Given the description of an element on the screen output the (x, y) to click on. 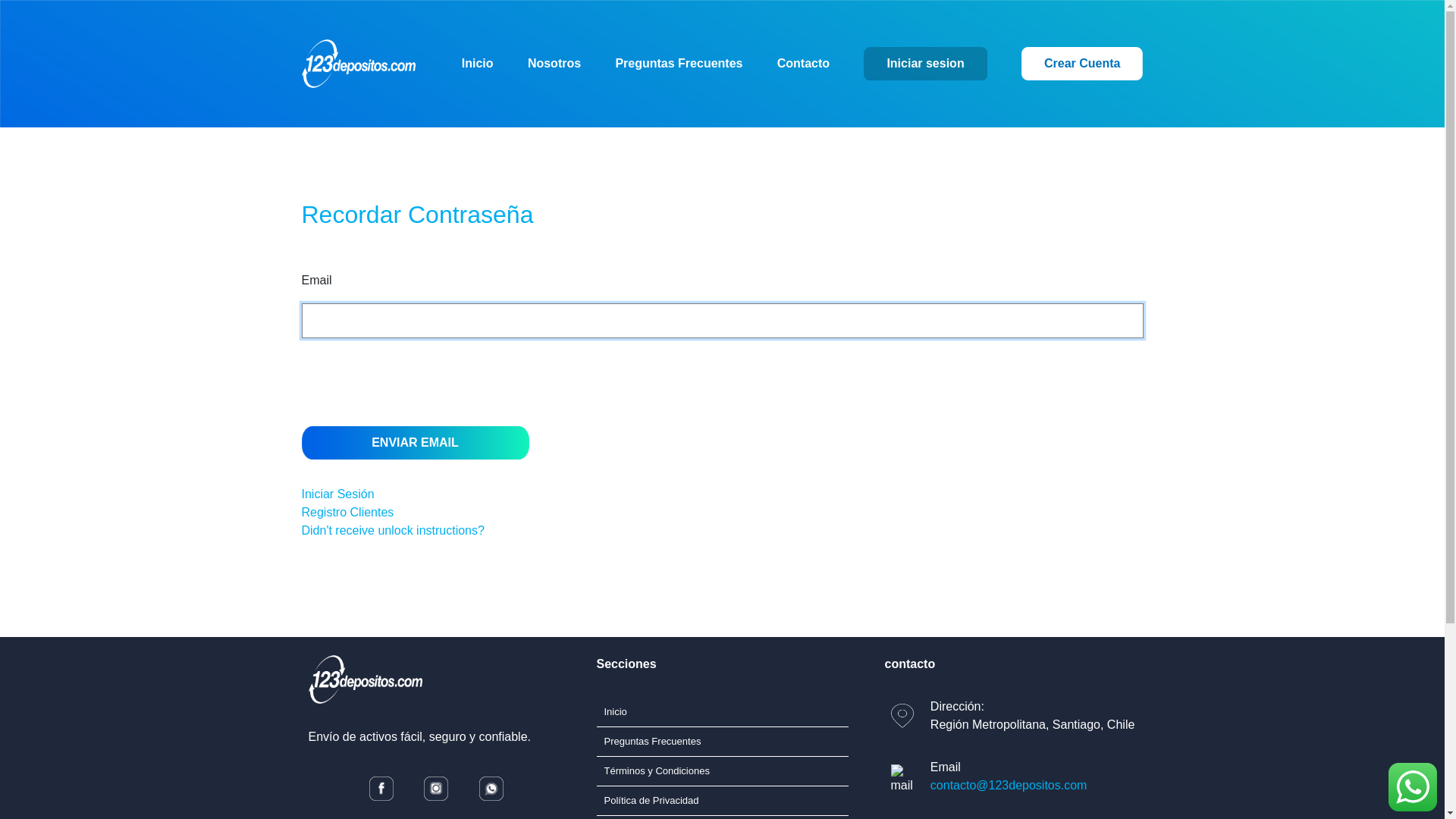
Contacto Element type: text (803, 63)
Iniciar sesion Element type: text (924, 63)
Crear Cuenta Element type: text (1081, 63)
Nosotros Element type: text (553, 63)
Didn't receive unlock instructions? Element type: text (392, 530)
Inicio Element type: text (477, 63)
Preguntas Frecuentes Element type: text (678, 63)
Preguntas Frecuentes Element type: text (651, 740)
Registro Clientes Element type: text (347, 511)
contacto@123depositos.com Element type: text (1008, 784)
Enviar Email Element type: text (415, 442)
Inicio Element type: text (614, 711)
